Given the description of an element on the screen output the (x, y) to click on. 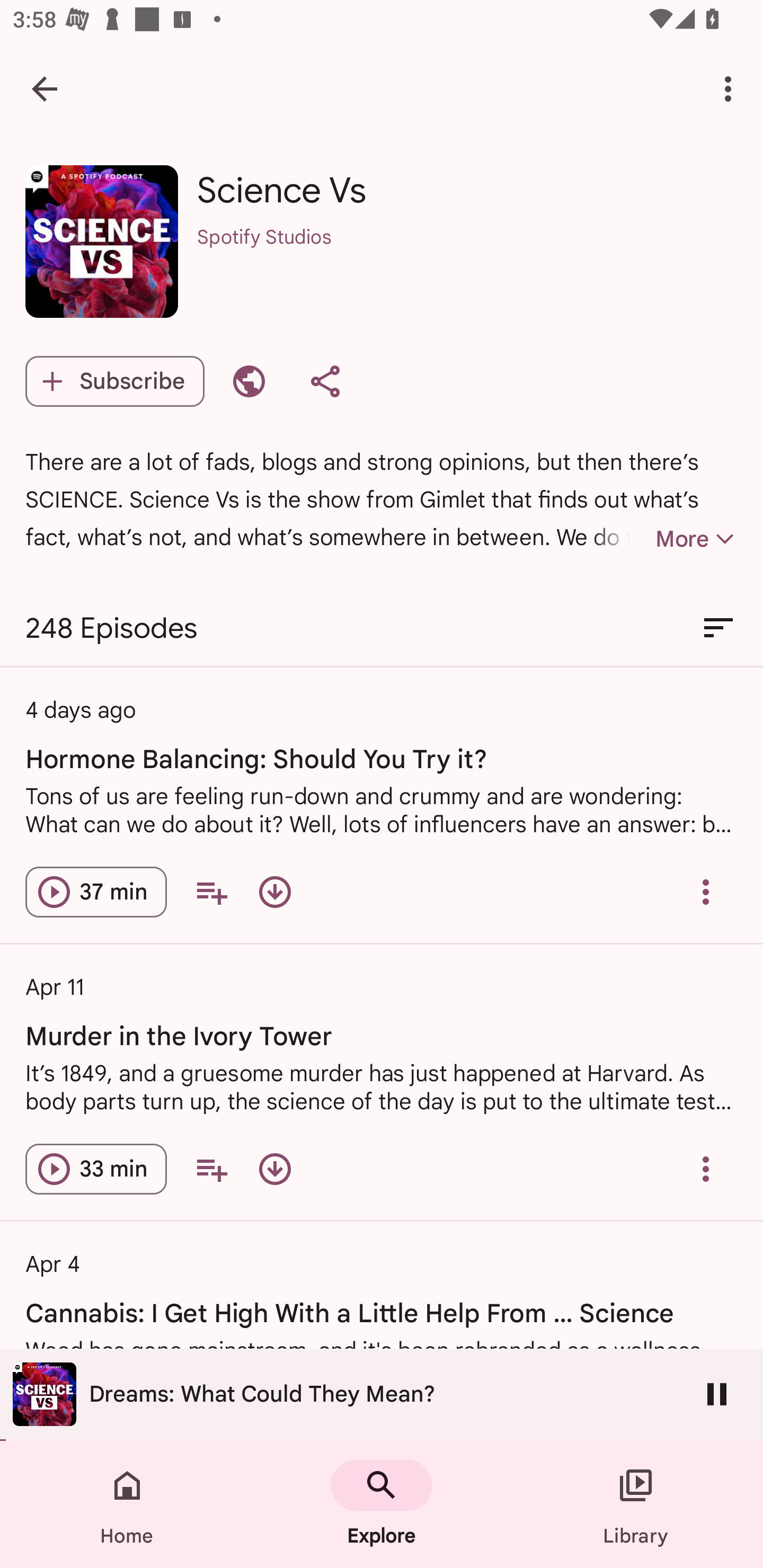
Navigate up (44, 88)
More options (731, 88)
Spotify Studios (466, 260)
Subscribe (114, 381)
Visit website (248, 381)
Share (324, 381)
More (664, 539)
Sort (718, 627)
Add to your queue (211, 891)
Download episode (274, 891)
Overflow menu (705, 891)
Play episode Murder in the Ivory Tower 33 min (96, 1168)
Add to your queue (211, 1168)
Download episode (274, 1168)
Overflow menu (705, 1168)
Pause (717, 1394)
Home (127, 1504)
Library (635, 1504)
